Given the description of an element on the screen output the (x, y) to click on. 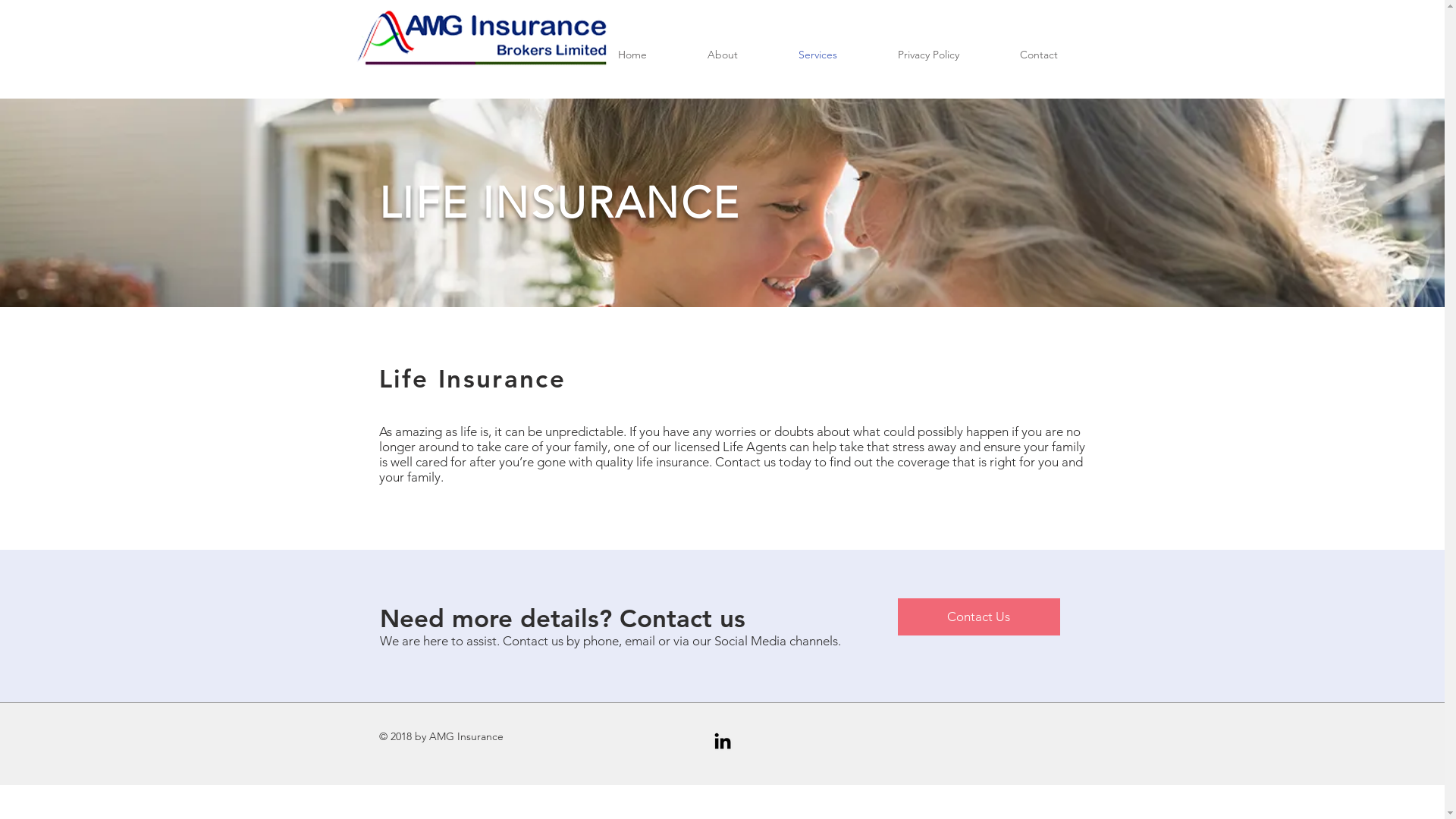
Privacy Policy Element type: text (928, 54)
Contact Element type: text (1037, 54)
Home Element type: text (631, 54)
Contact Us Element type: text (978, 616)
Services Element type: text (816, 54)
About Element type: text (721, 54)
